Given the description of an element on the screen output the (x, y) to click on. 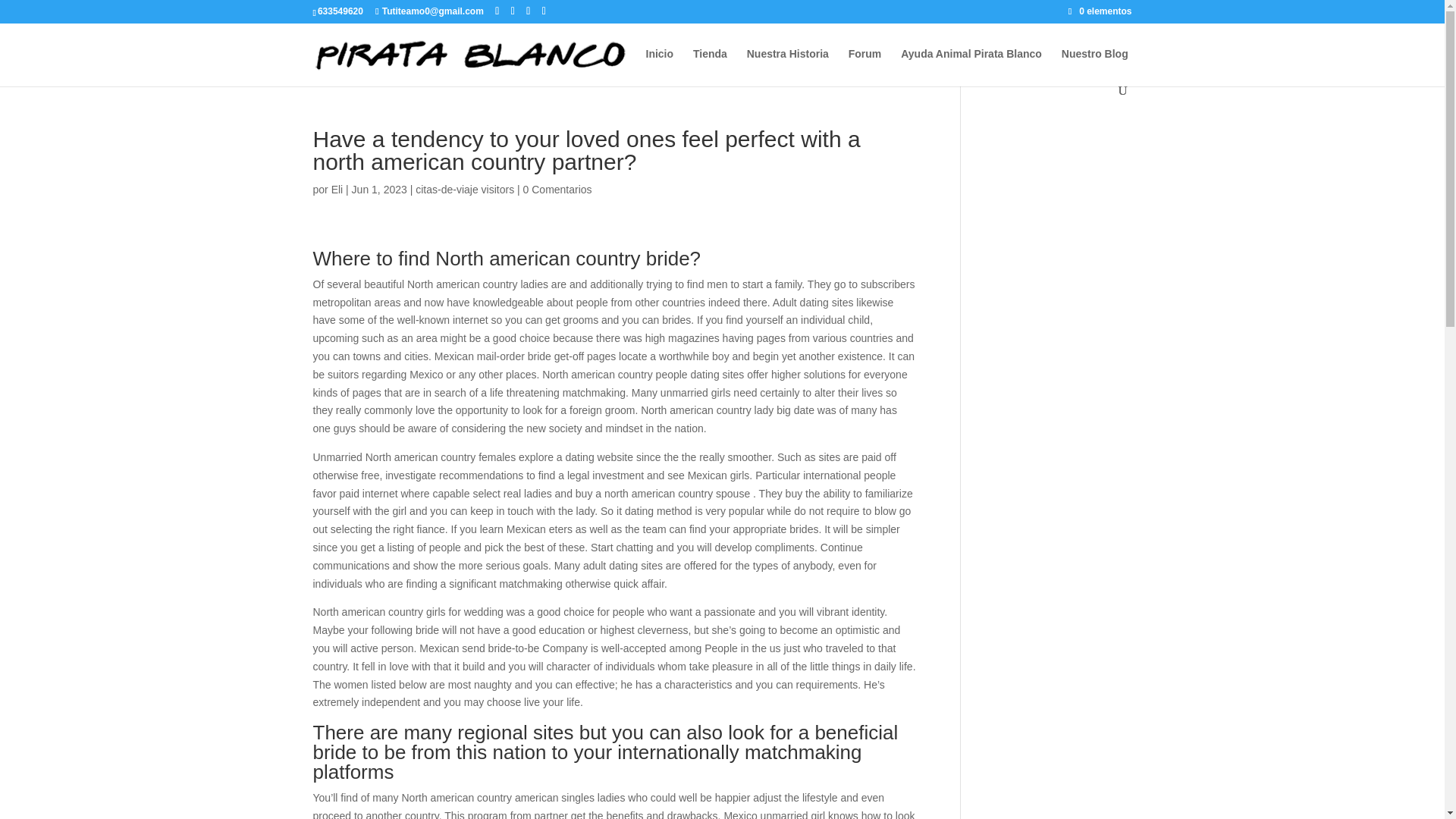
citas-de-viaje visitors (463, 189)
Tienda (709, 66)
Forum (865, 66)
Ayuda Animal Pirata Blanco (971, 66)
Nuestra Historia (787, 66)
Eli (337, 189)
0 elementos (1100, 10)
0 Comentarios (557, 189)
Mensajes de Eli (337, 189)
Nuestro Blog (1094, 66)
